Given the description of an element on the screen output the (x, y) to click on. 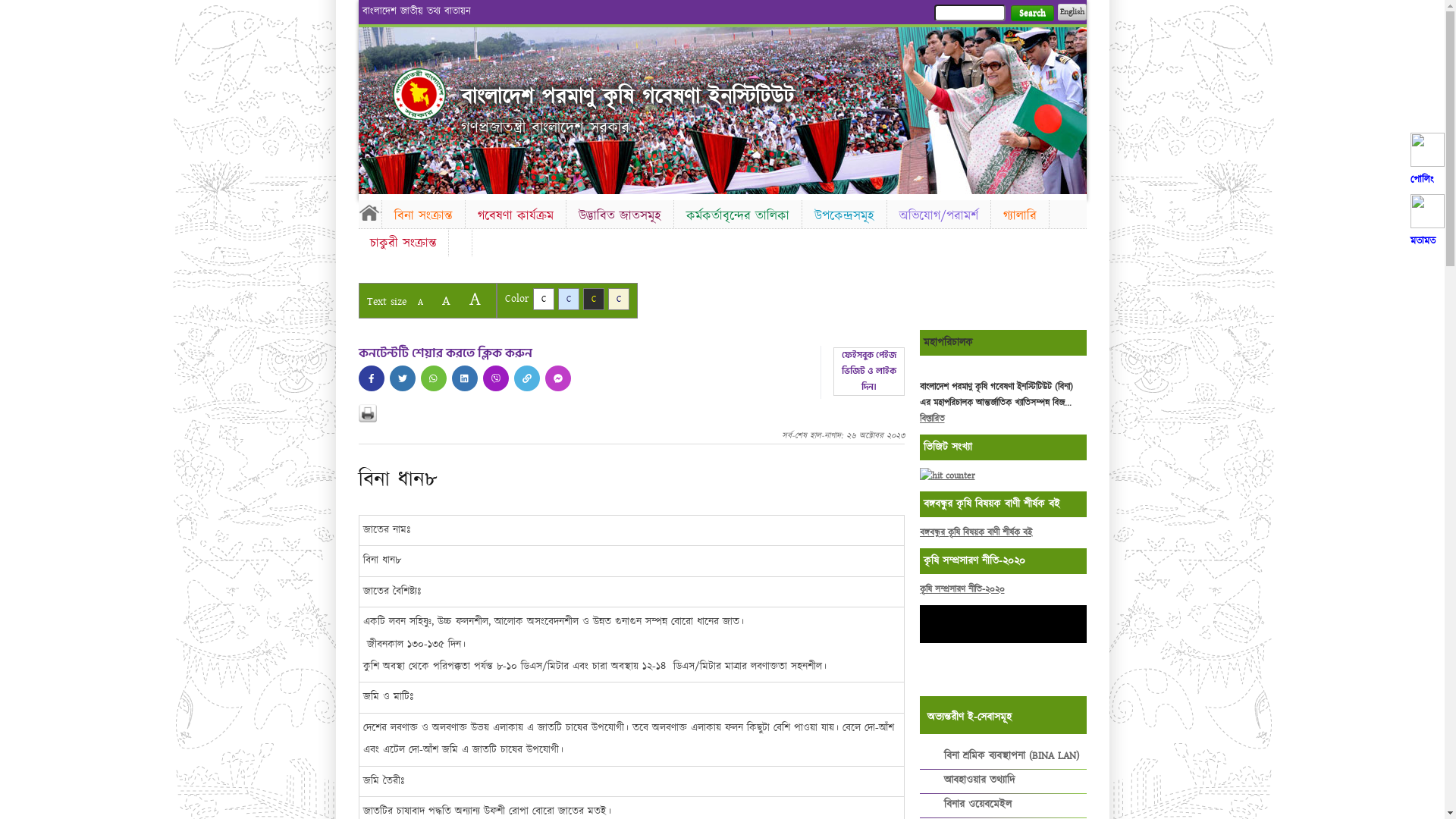
English Element type: text (1071, 11)
A Element type: text (474, 298)
C Element type: text (568, 299)
C Element type: text (592, 299)
A Element type: text (419, 301)
Search Element type: text (1031, 13)
C Element type: text (618, 299)
A Element type: text (445, 300)
Home Element type: hover (418, 93)
Home Element type: hover (368, 211)
C Element type: text (542, 299)
